Given the description of an element on the screen output the (x, y) to click on. 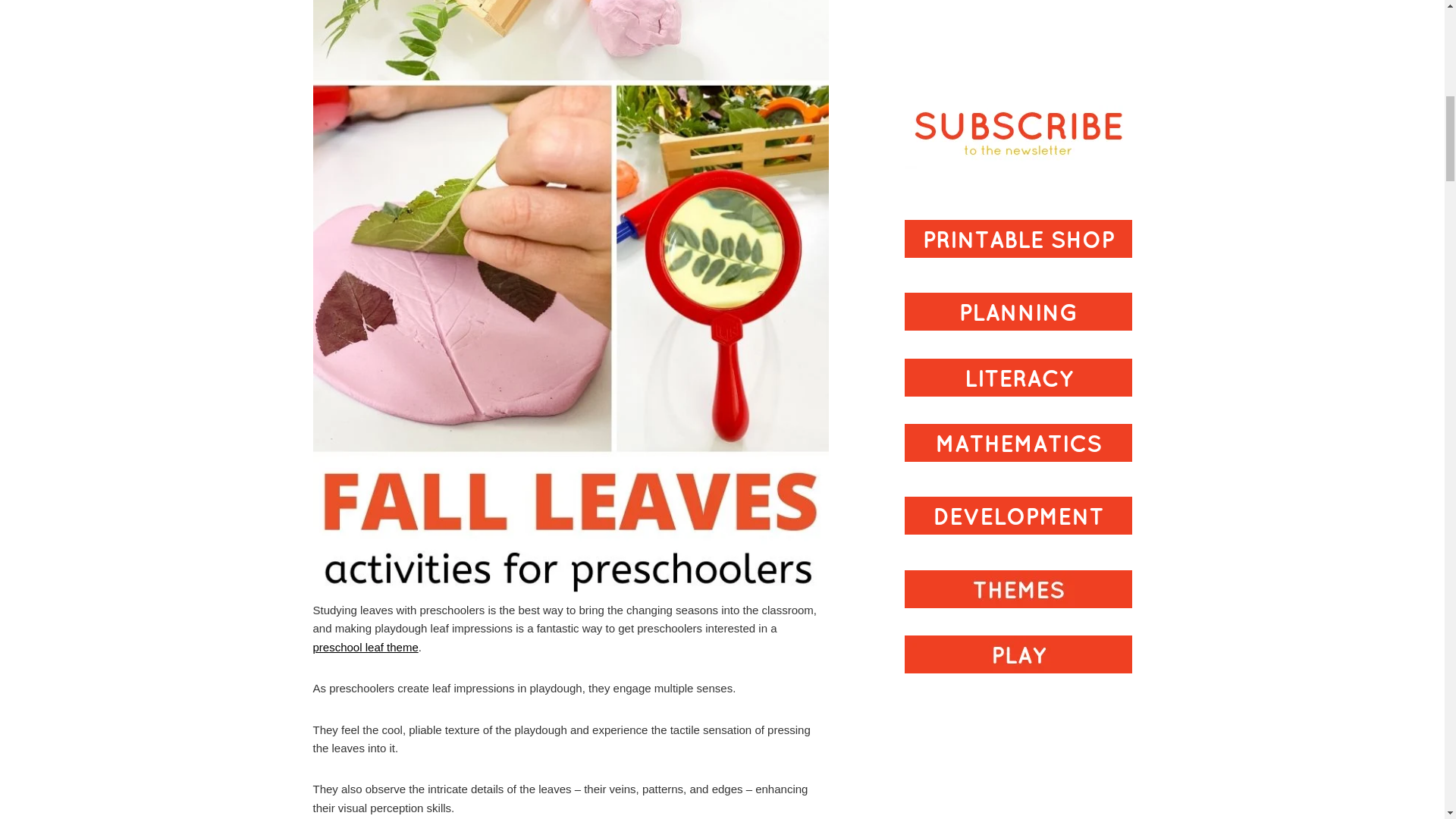
preschool leaf theme (365, 646)
